Given the description of an element on the screen output the (x, y) to click on. 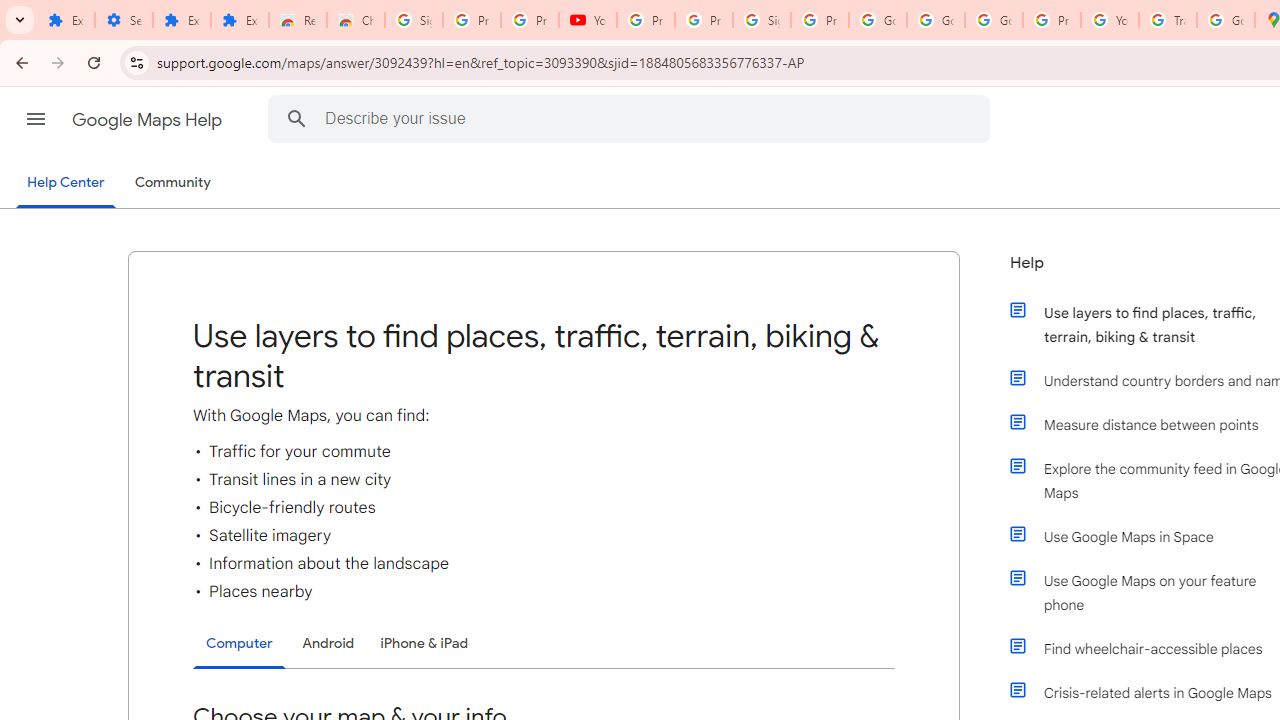
YouTube (1110, 20)
Sign in - Google Accounts (413, 20)
Google Account (936, 20)
Sign in - Google Accounts (762, 20)
Google Account (877, 20)
Extensions (239, 20)
YouTube (587, 20)
